Given the description of an element on the screen output the (x, y) to click on. 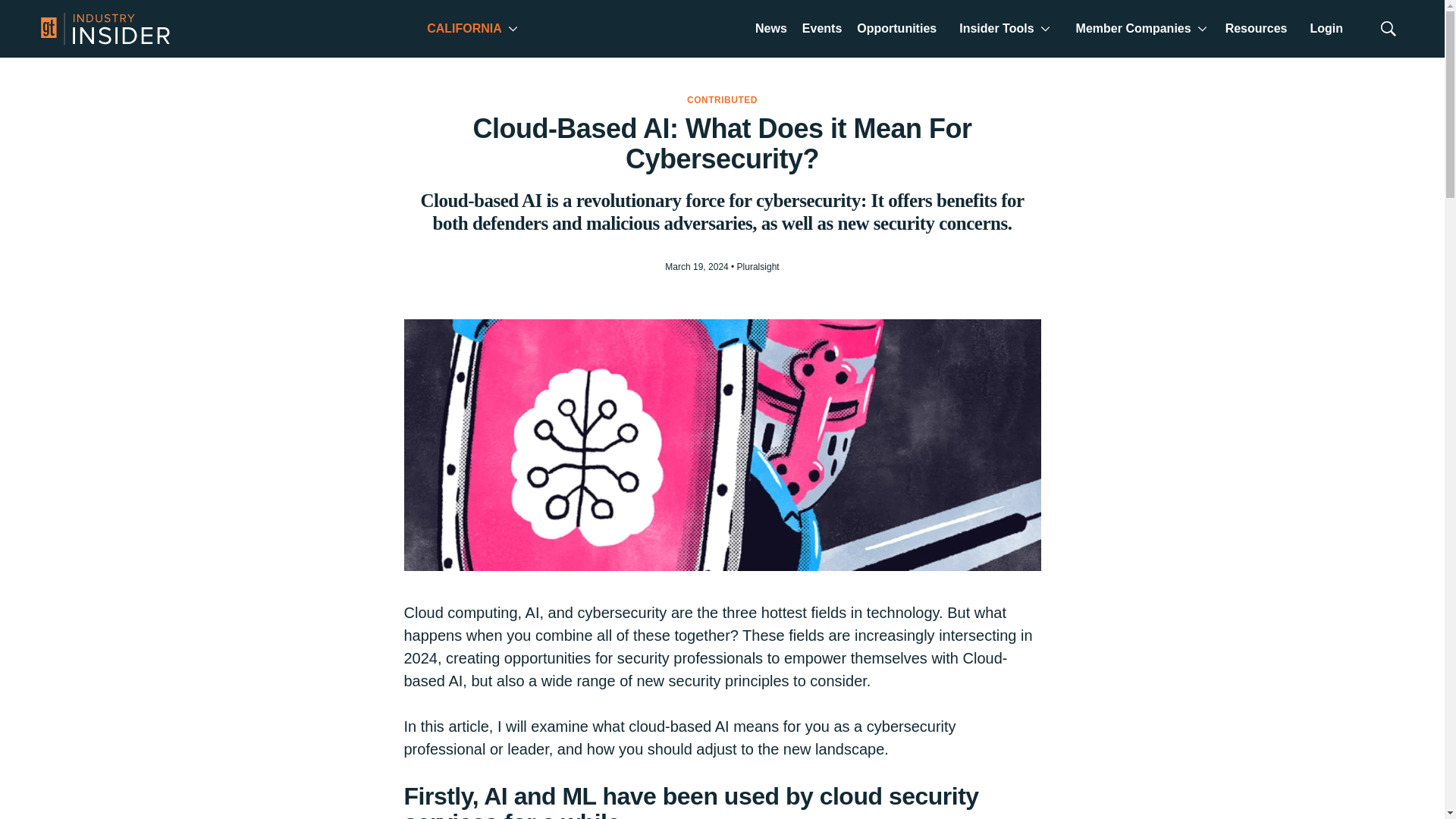
News (771, 30)
Opportunities (895, 30)
Events (821, 30)
